Given the description of an element on the screen output the (x, y) to click on. 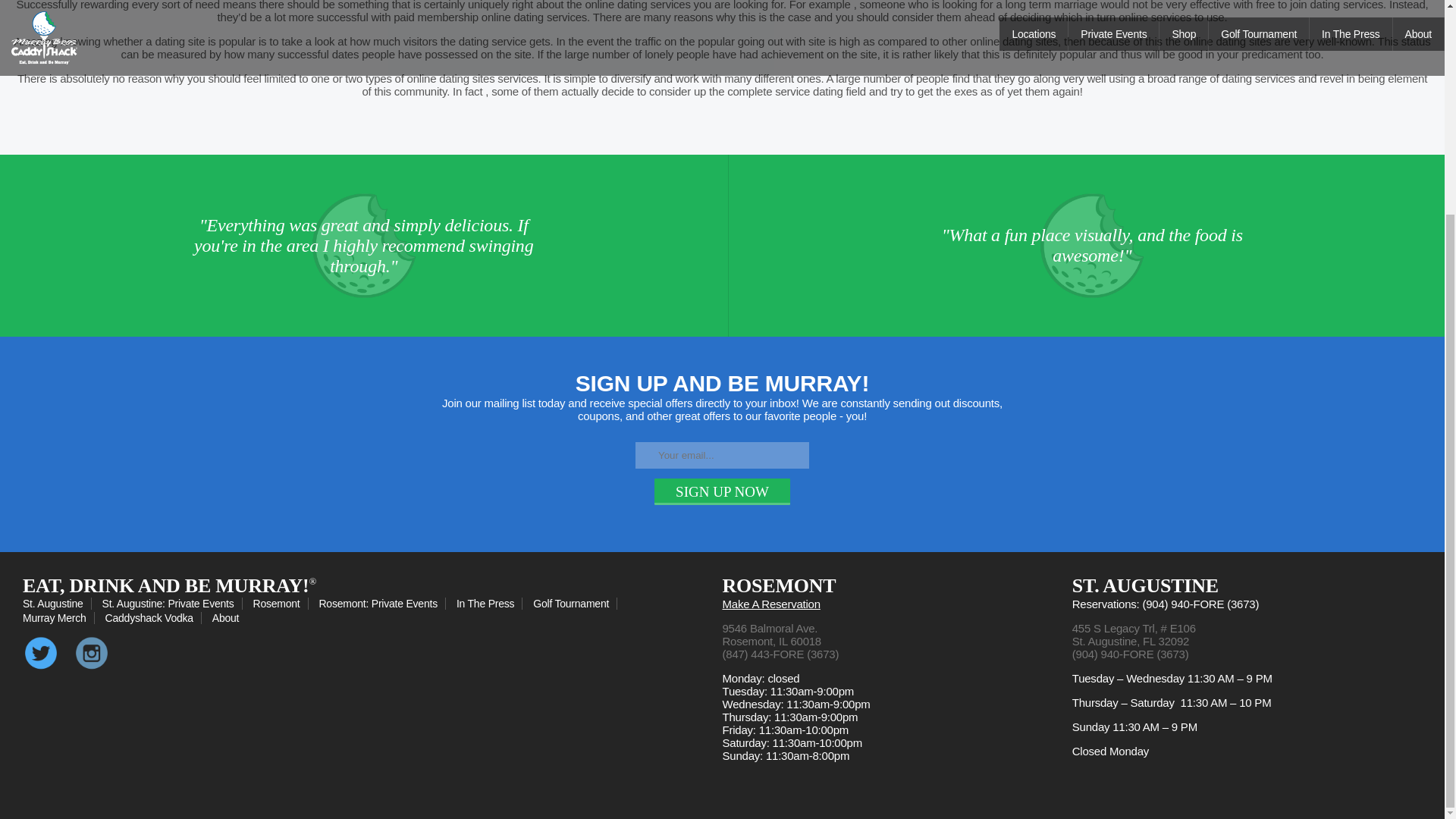
Make A Reservation (770, 603)
Sign Up Now (721, 491)
Golf Tournament (574, 603)
St. Augustine: Private Events (172, 603)
About (229, 617)
In The Press (489, 603)
Rosemont (280, 603)
Caddyshack Vodka (153, 617)
Sign Up Now (721, 491)
Rosemont: Private Events (381, 603)
St. Augustine (57, 603)
Murray Merch (58, 617)
